Given the description of an element on the screen output the (x, y) to click on. 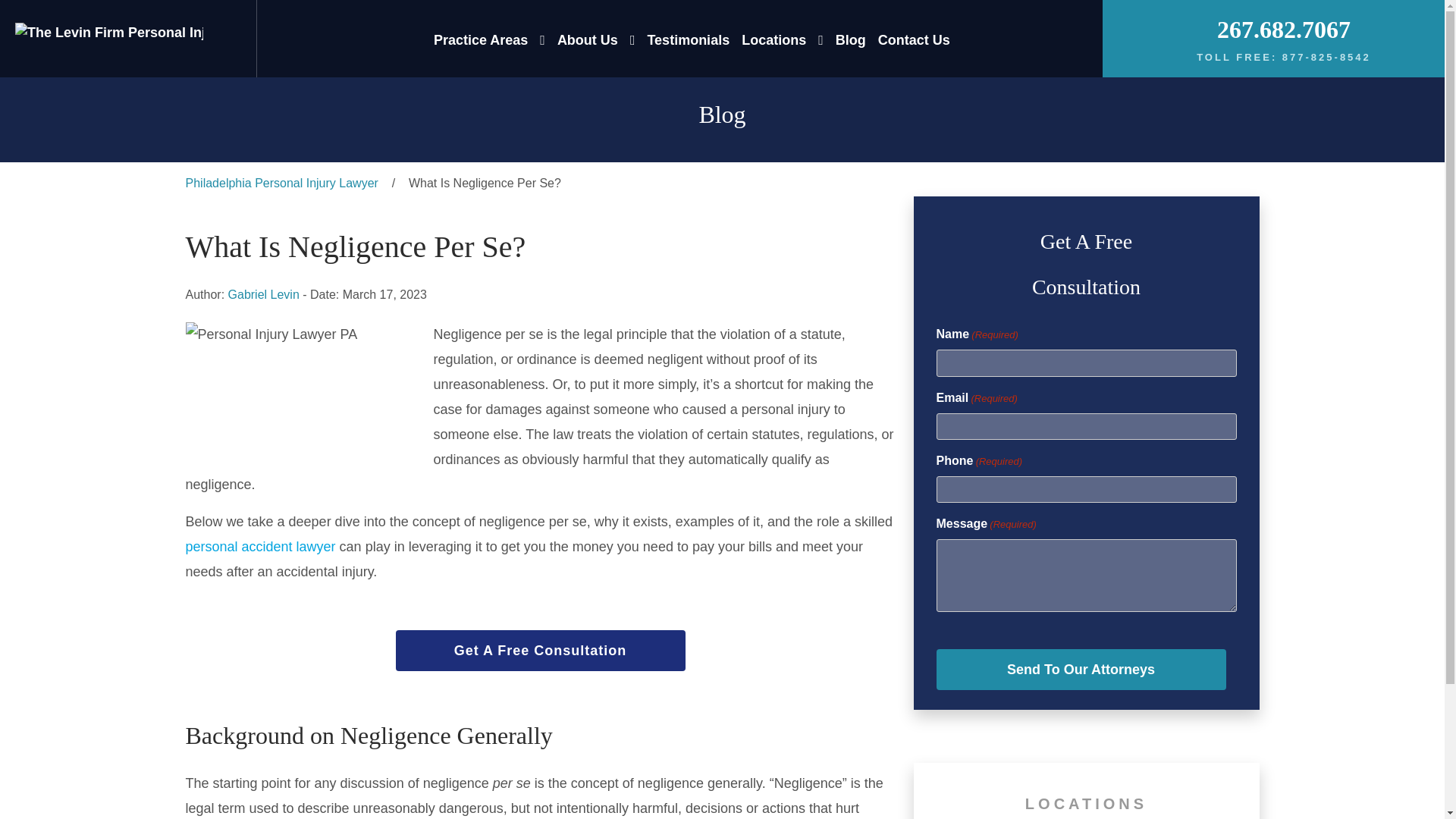
Blog (850, 40)
personal accident lawyer (259, 546)
Locations (773, 40)
267.682.7067 (1284, 29)
Practice Areas (542, 40)
Philadelphia Personal Injury Lawyer (280, 183)
Testimonials (687, 40)
Practice Areas (480, 40)
Contact Us (913, 40)
TOLL FREE: 877-825-8542 (1283, 57)
Gabriel Levin (263, 294)
Testimonials (687, 40)
About Us (587, 40)
Locations (773, 40)
Get A Free Consultation (540, 649)
